Given the description of an element on the screen output the (x, y) to click on. 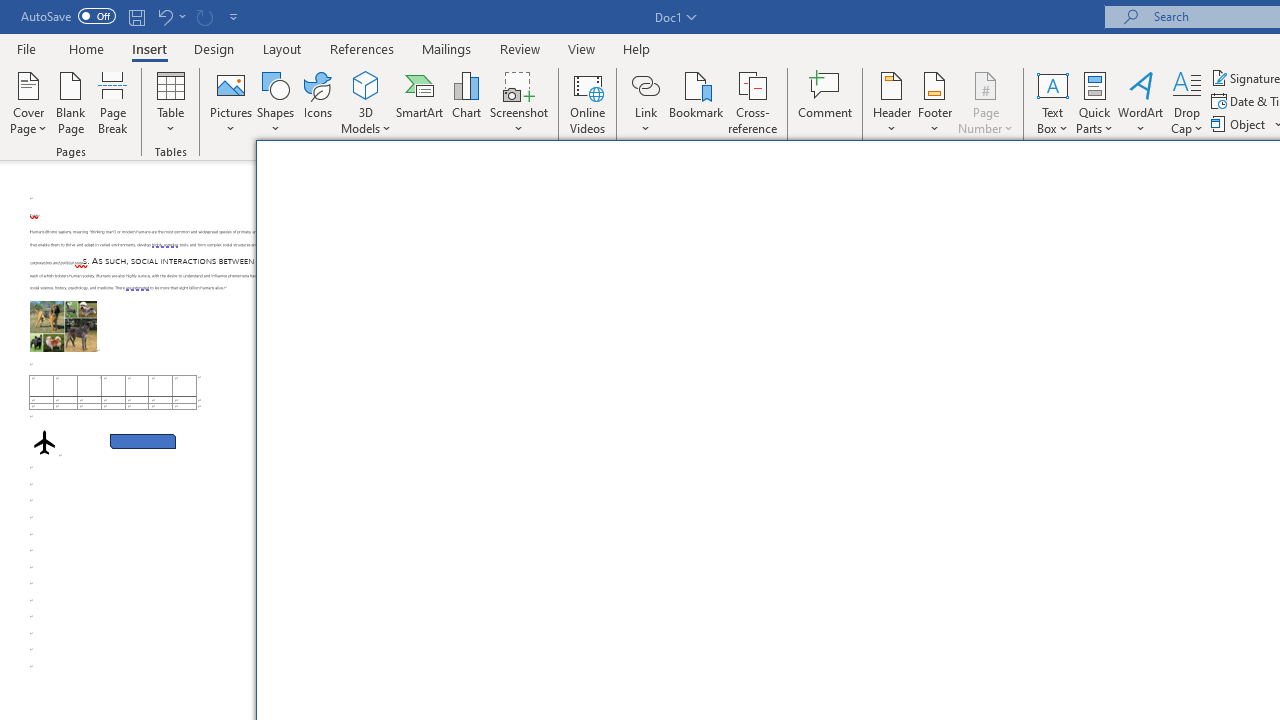
Cover Page (28, 102)
Airplane with solid fill (43, 442)
Page Break (113, 102)
Table (170, 102)
Link (645, 84)
Online Videos... (588, 102)
Bookmark... (695, 102)
Text Box (1052, 102)
